Given the description of an element on the screen output the (x, y) to click on. 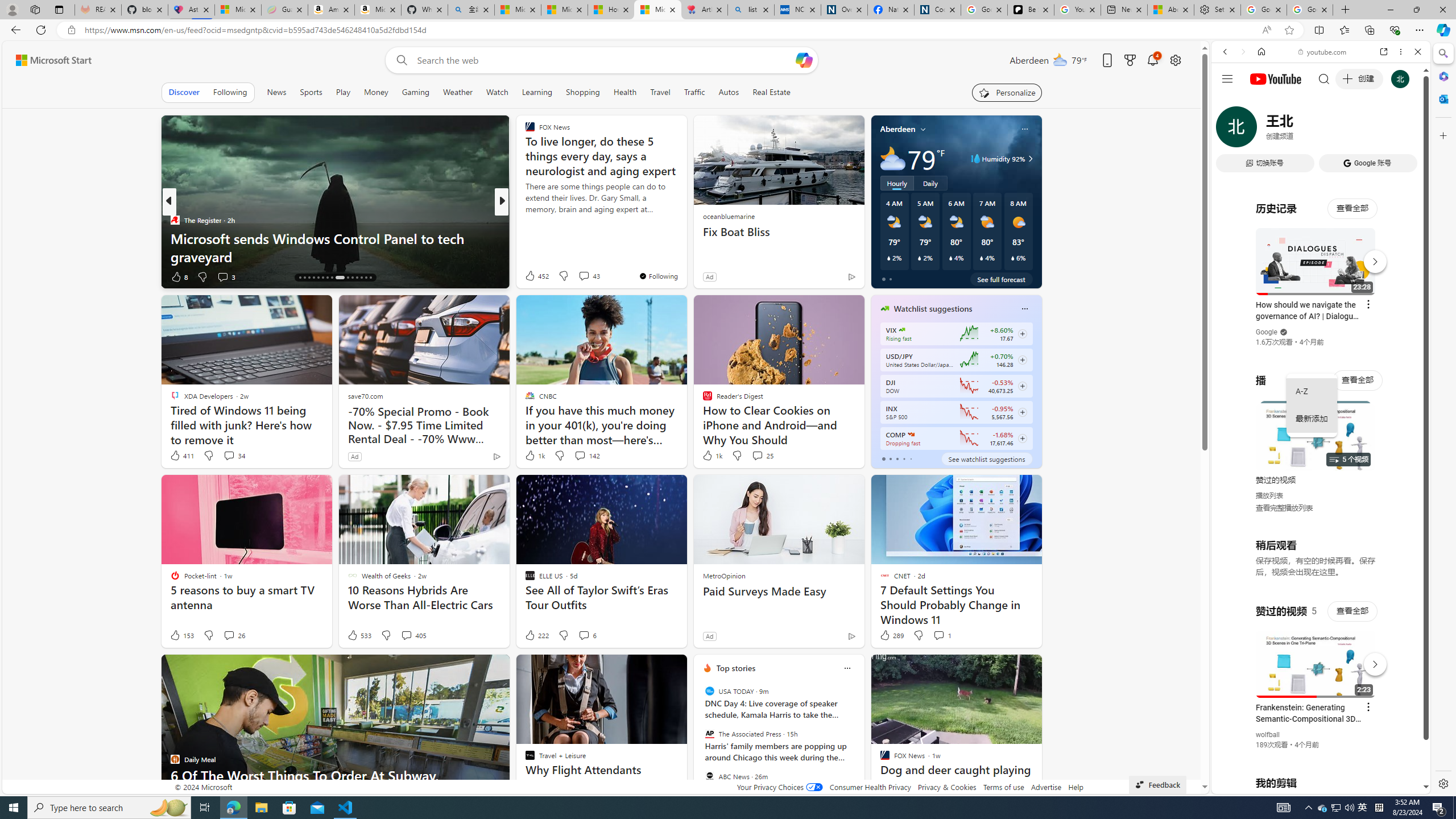
Microsoft sends Windows Control Panel to tech graveyard (335, 247)
Privacy & Cookies (946, 786)
Traffic (694, 92)
AutomationID: tab-29 (366, 277)
Enter your search term (603, 59)
Traffic (694, 92)
See watchlist suggestions (986, 459)
View comments 26 Comment (228, 635)
View comments 142 Comment (579, 455)
